Given the description of an element on the screen output the (x, y) to click on. 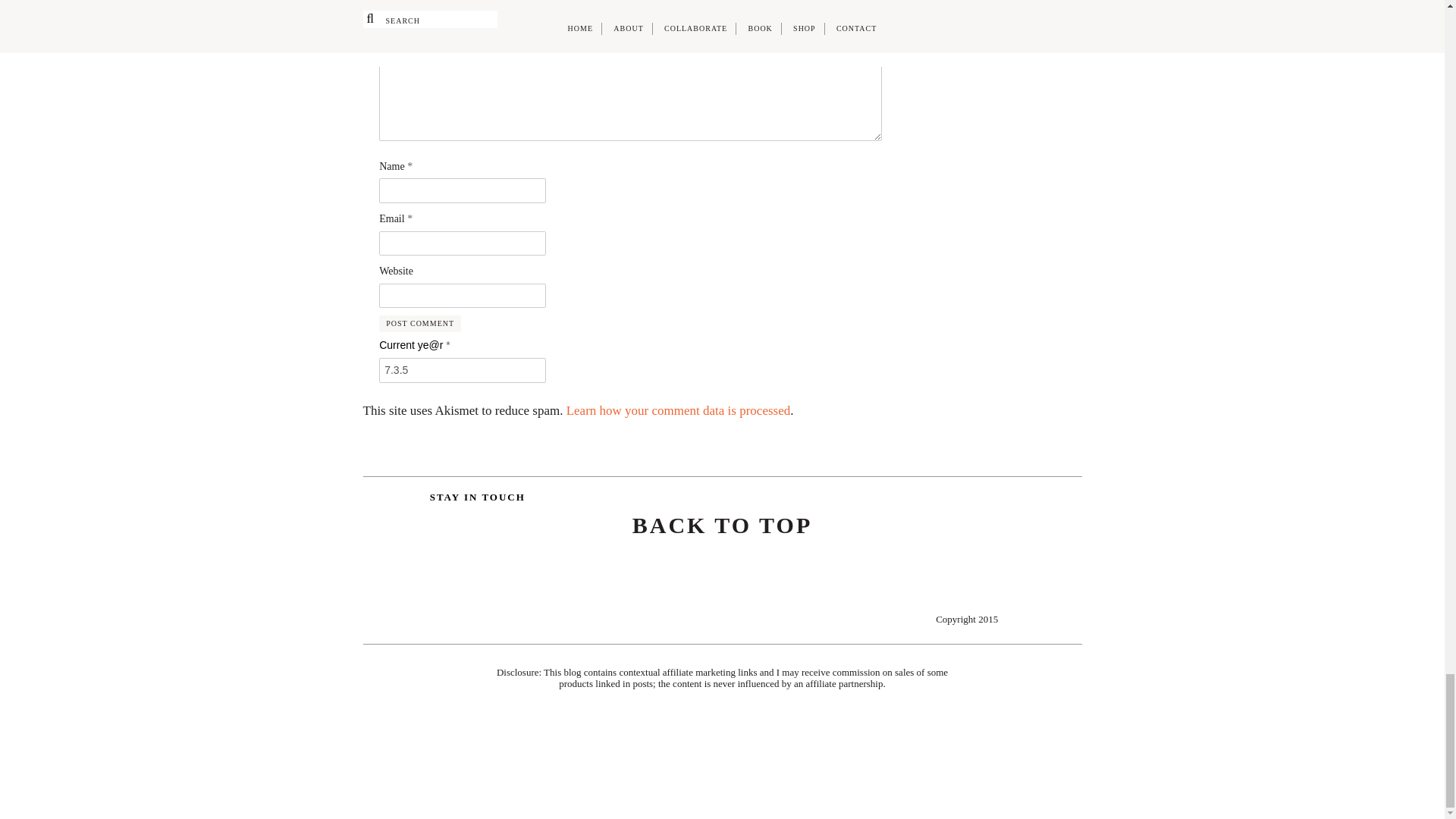
Post Comment (419, 323)
7.3.5 (462, 370)
Post Comment (419, 323)
